Given the description of an element on the screen output the (x, y) to click on. 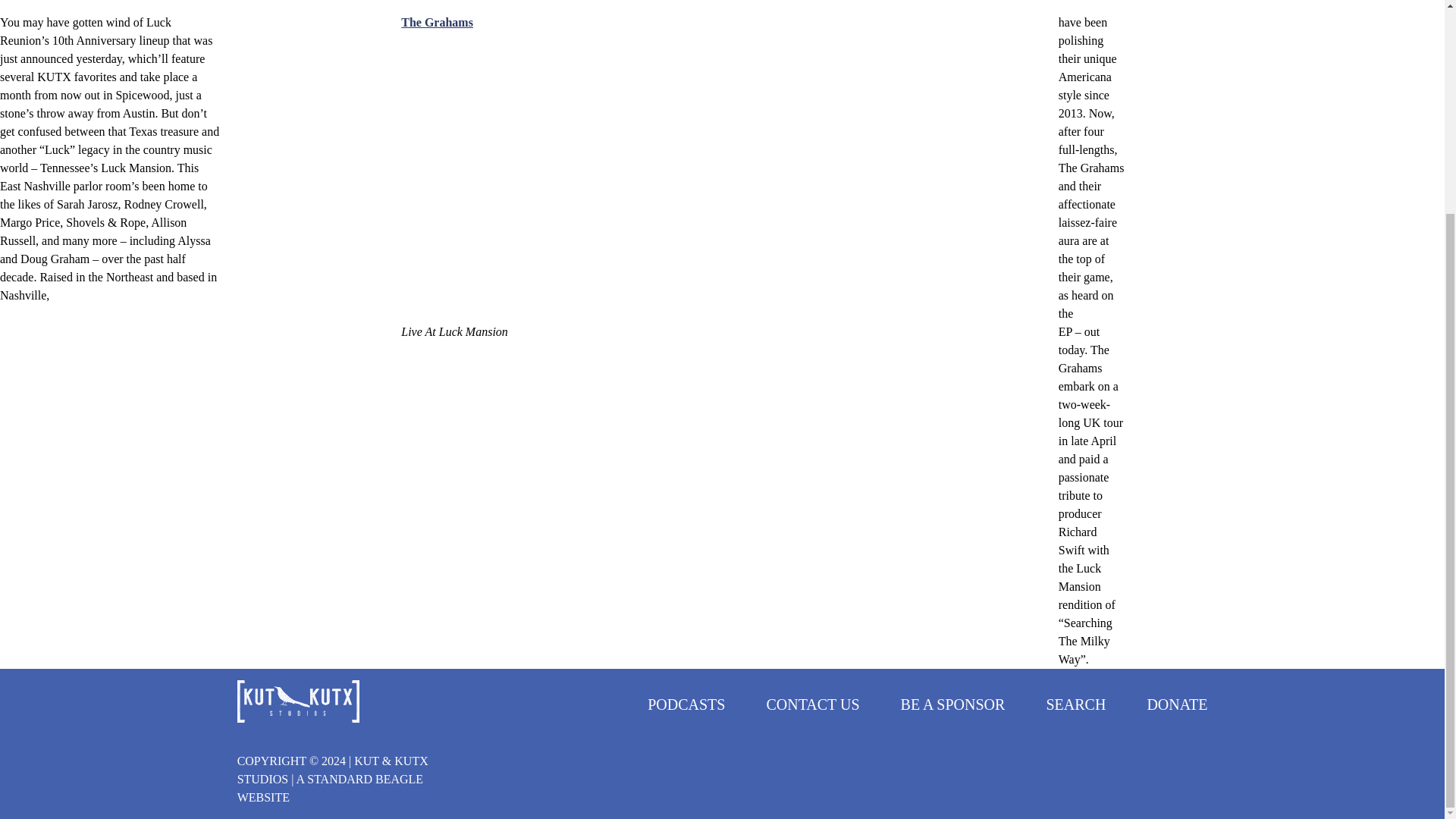
BE A SPONSOR (953, 704)
The Grahams (437, 21)
CONTACT US (812, 704)
DONATE (1177, 704)
SEARCH (1075, 704)
PODCASTS (686, 704)
